Given the description of an element on the screen output the (x, y) to click on. 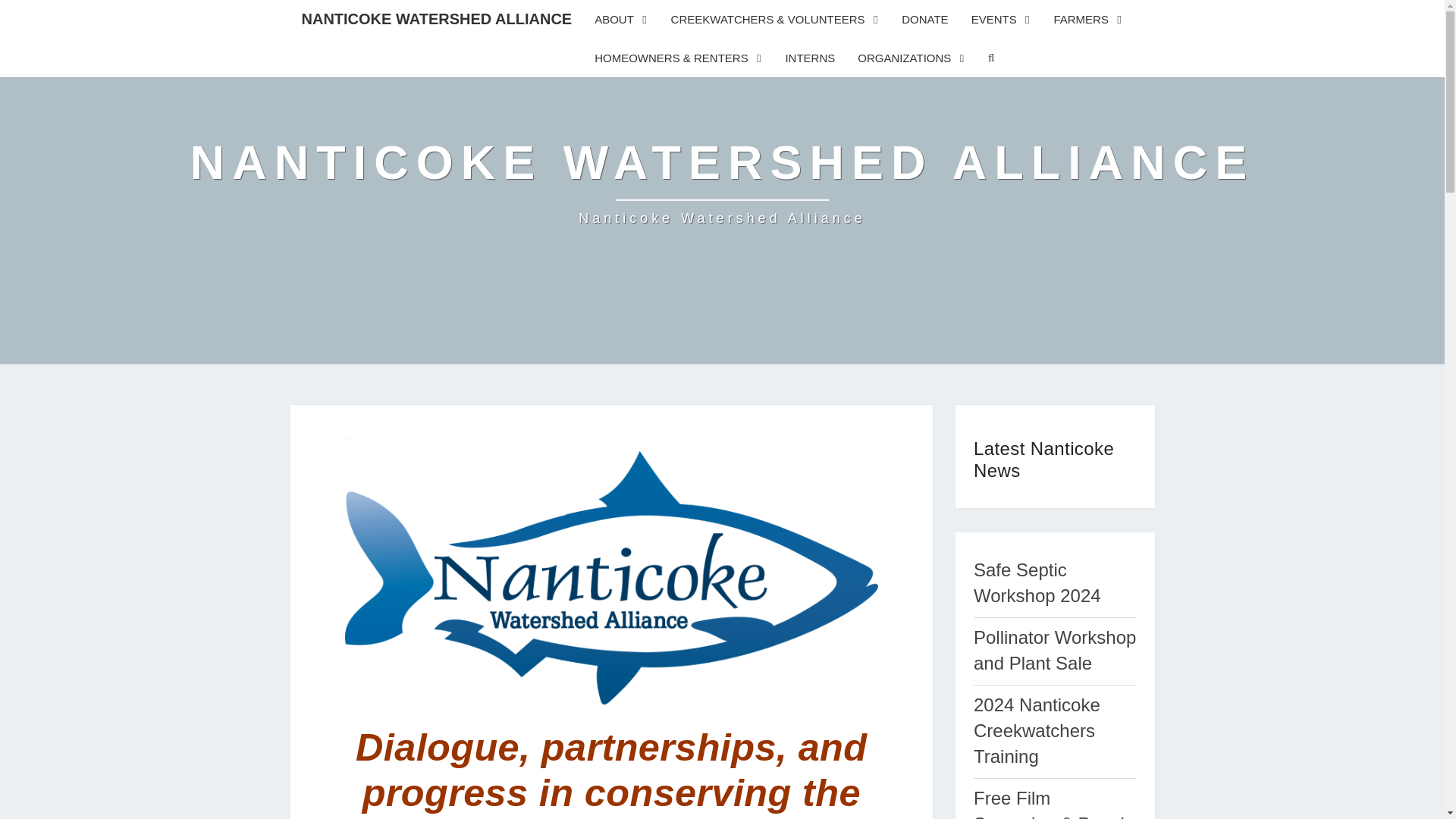
ABOUT (621, 19)
EVENTS (1000, 19)
Pollinator Workshop and Plant Sale (1054, 650)
ORGANIZATIONS (910, 57)
FARMERS (1088, 19)
Safe Septic Workshop 2024 (1037, 582)
Nanticoke Watershed Alliance (721, 182)
INTERNS (809, 57)
DONATE (721, 182)
